Given the description of an element on the screen output the (x, y) to click on. 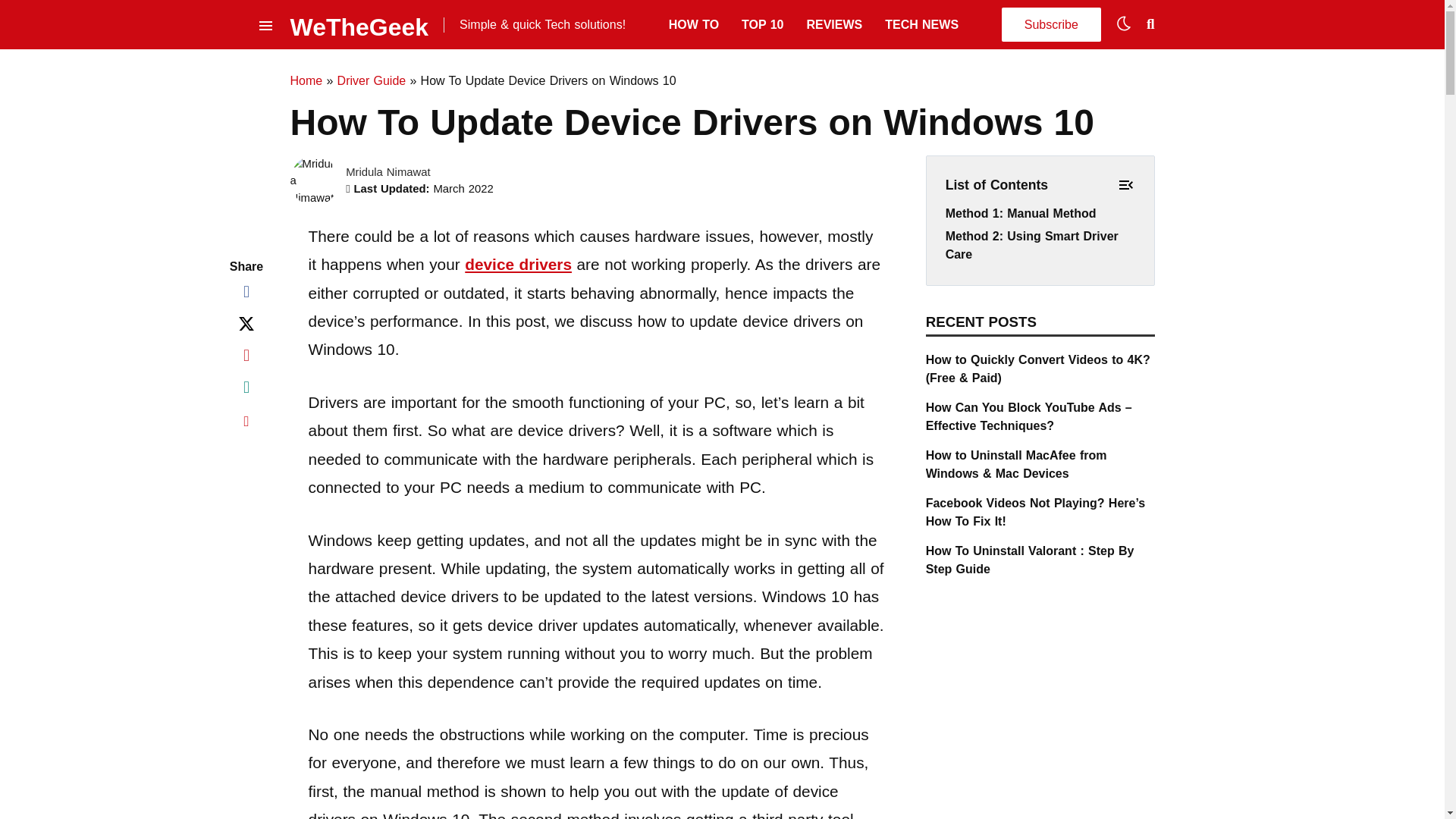
TOP 10 (762, 24)
HOW TO (693, 24)
Home (305, 80)
TECH NEWS (921, 24)
Mridula Nimawat (388, 172)
Driver Guide (371, 80)
REVIEWS (833, 24)
WeTheGeek (358, 24)
